Given the description of an element on the screen output the (x, y) to click on. 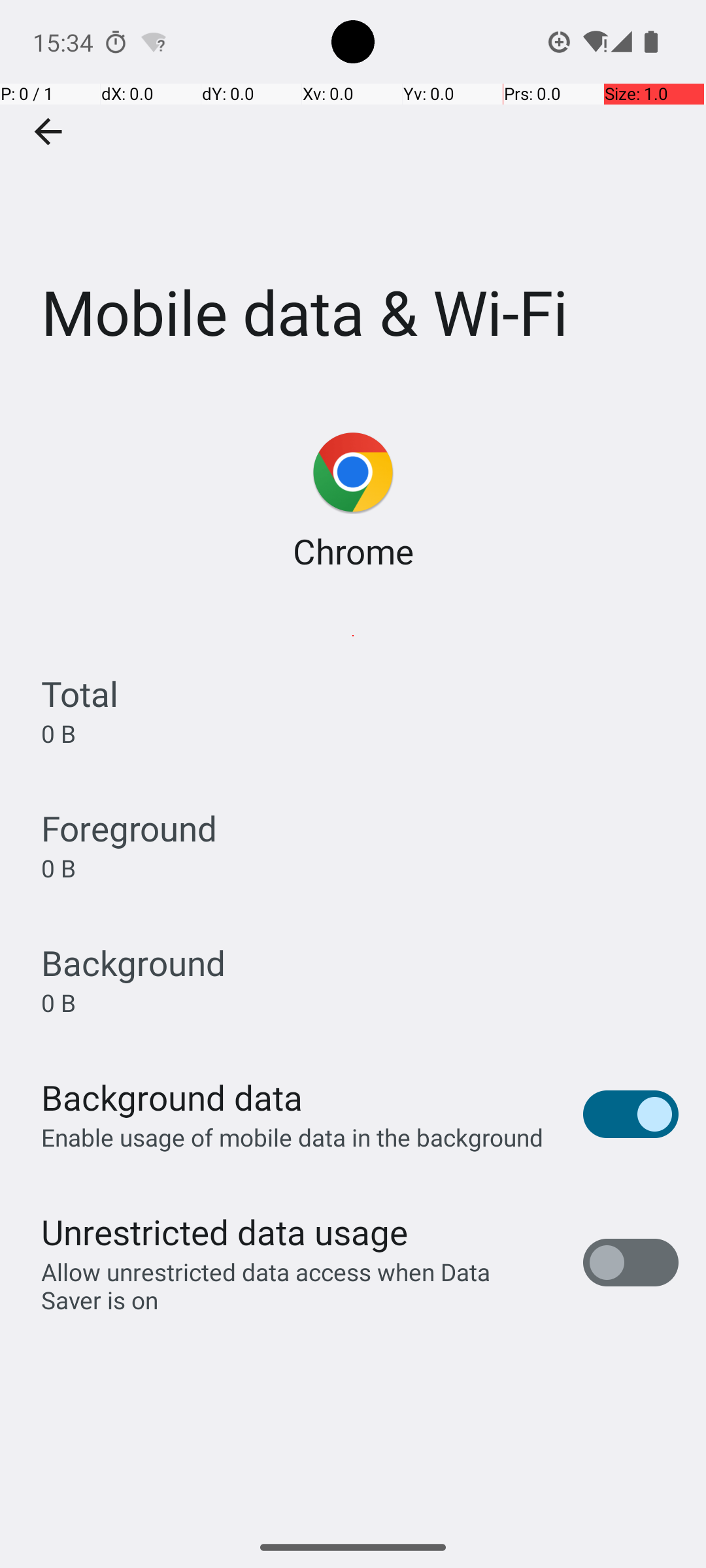
Foreground Element type: android.widget.TextView (129, 827)
Background Element type: android.widget.TextView (133, 962)
Background data Element type: android.widget.TextView (171, 1097)
Enable usage of mobile data in the background Element type: android.widget.TextView (292, 1136)
Unrestricted data usage Element type: android.widget.TextView (224, 1231)
Allow unrestricted data access when Data Saver is on Element type: android.widget.TextView (298, 1285)
